Given the description of an element on the screen output the (x, y) to click on. 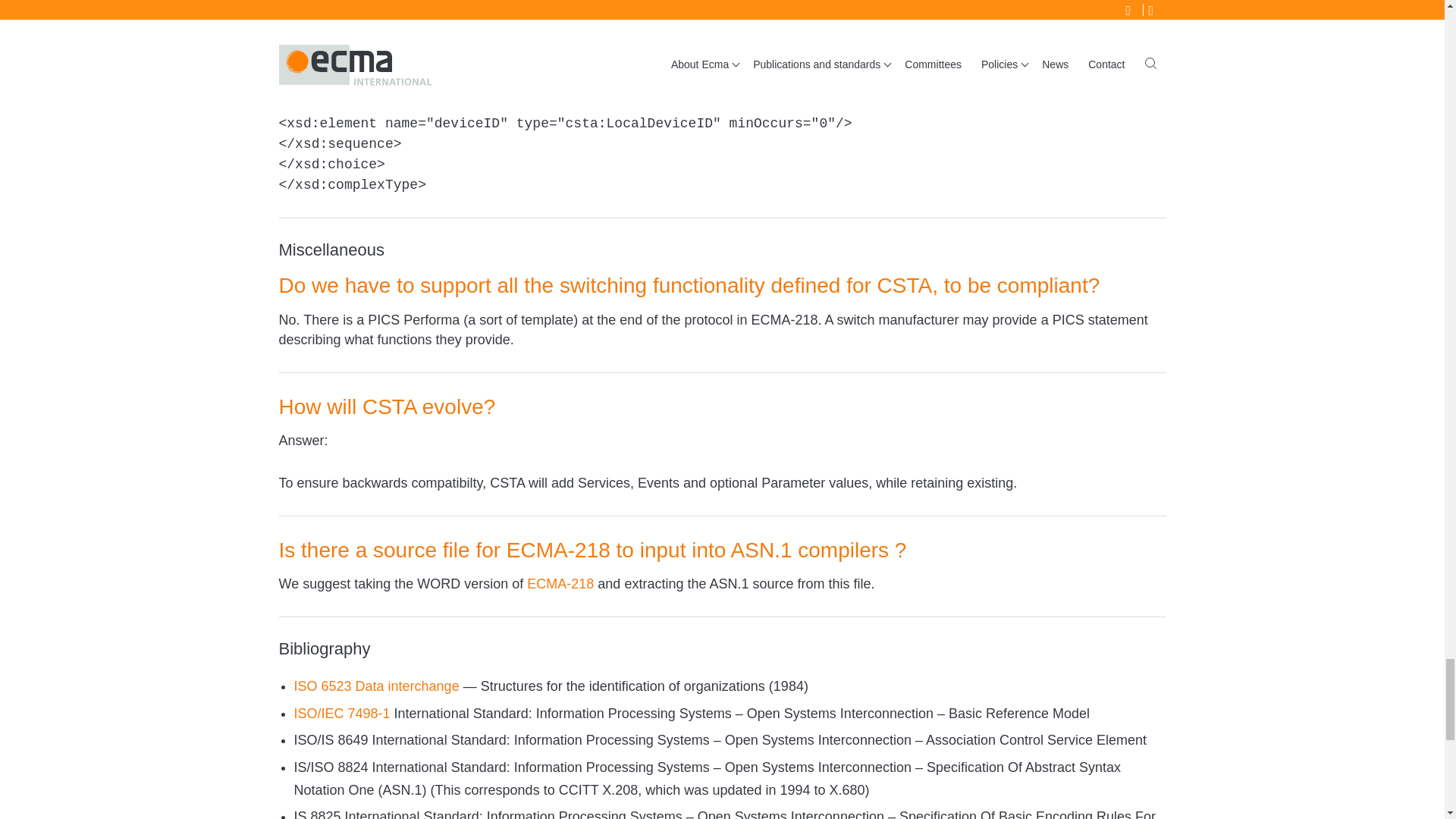
ECMA-218 (560, 583)
ISO 6523 Data interchange (377, 685)
